Given the description of an element on the screen output the (x, y) to click on. 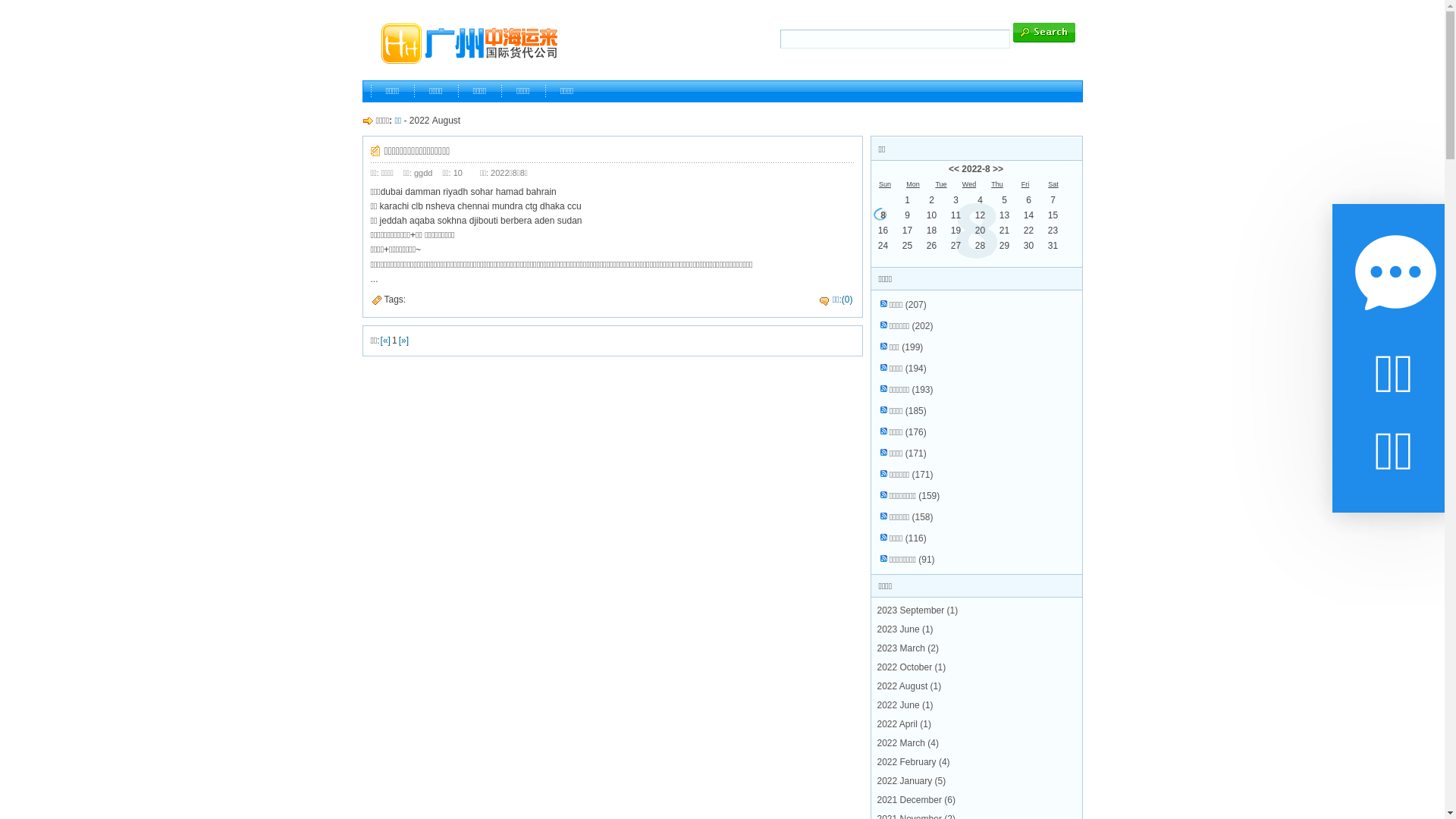
8 Element type: text (882, 215)
2021 December (6) Element type: text (915, 799)
2023 March (2) Element type: text (907, 648)
2023 June (1) Element type: text (904, 629)
2022 January (5) Element type: text (910, 780)
<< Element type: text (953, 168)
2022 October (1) Element type: text (910, 667)
2022 March (4) Element type: text (907, 742)
2022 August (1) Element type: text (908, 685)
2022-8 Element type: text (975, 168)
2023 September (1) Element type: text (916, 610)
2022 February (4) Element type: text (912, 761)
2022 April (1) Element type: text (903, 723)
2022 June (1) Element type: text (904, 704)
>> Element type: text (997, 168)
